Given the description of an element on the screen output the (x, y) to click on. 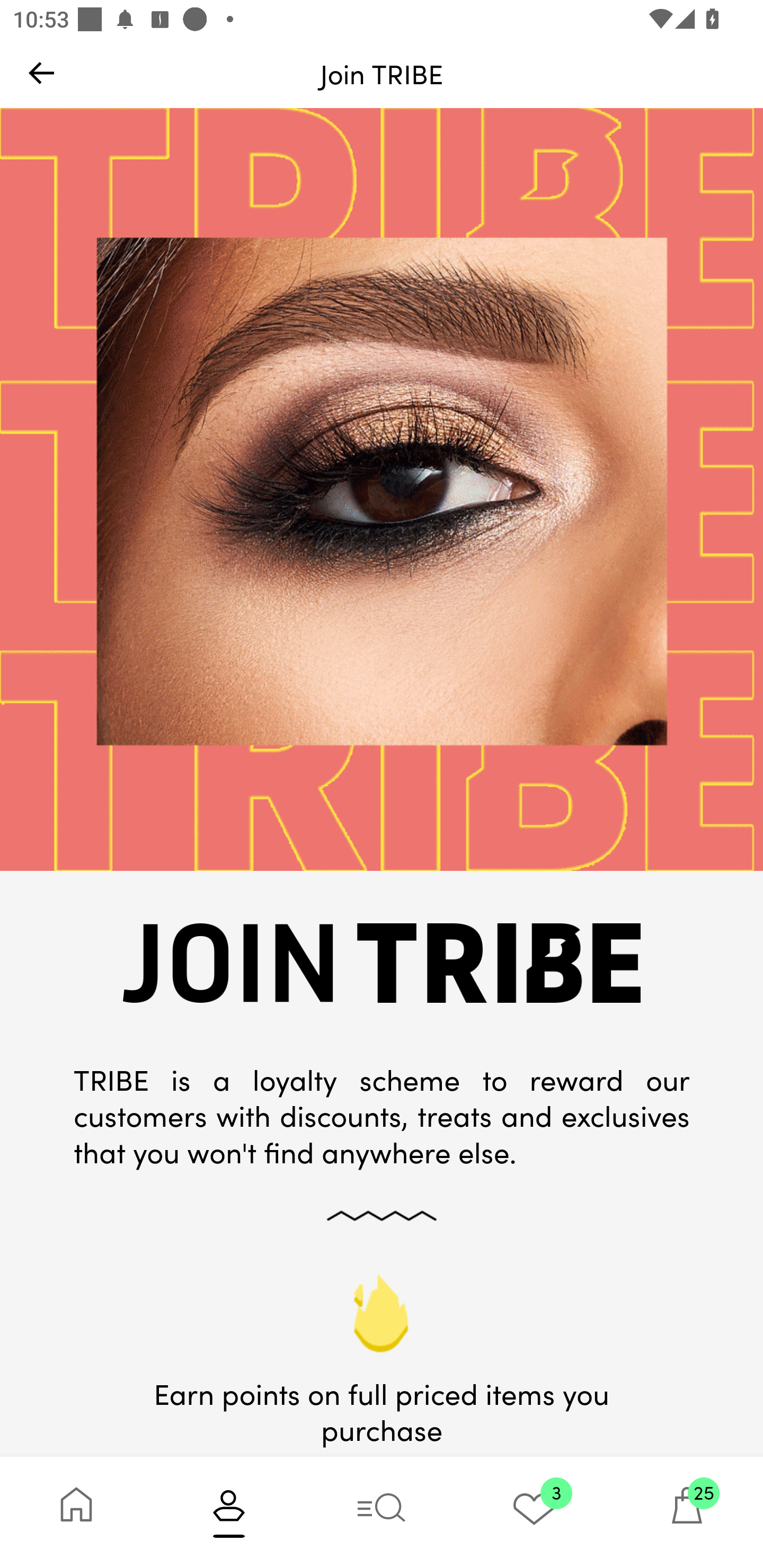
3 (533, 1512)
25 (686, 1512)
